Given the description of an element on the screen output the (x, y) to click on. 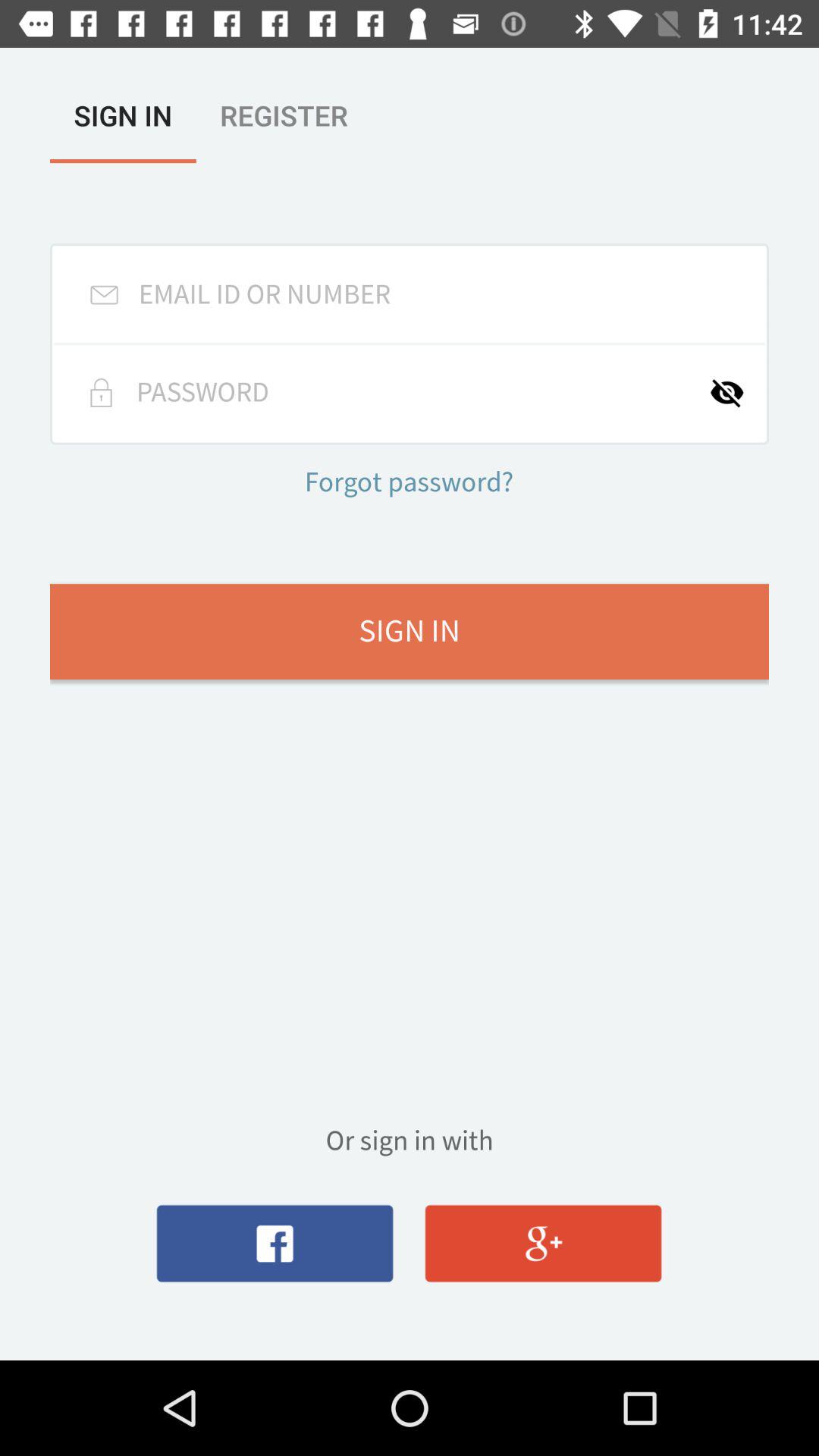
press item at the top right corner (736, 392)
